Given the description of an element on the screen output the (x, y) to click on. 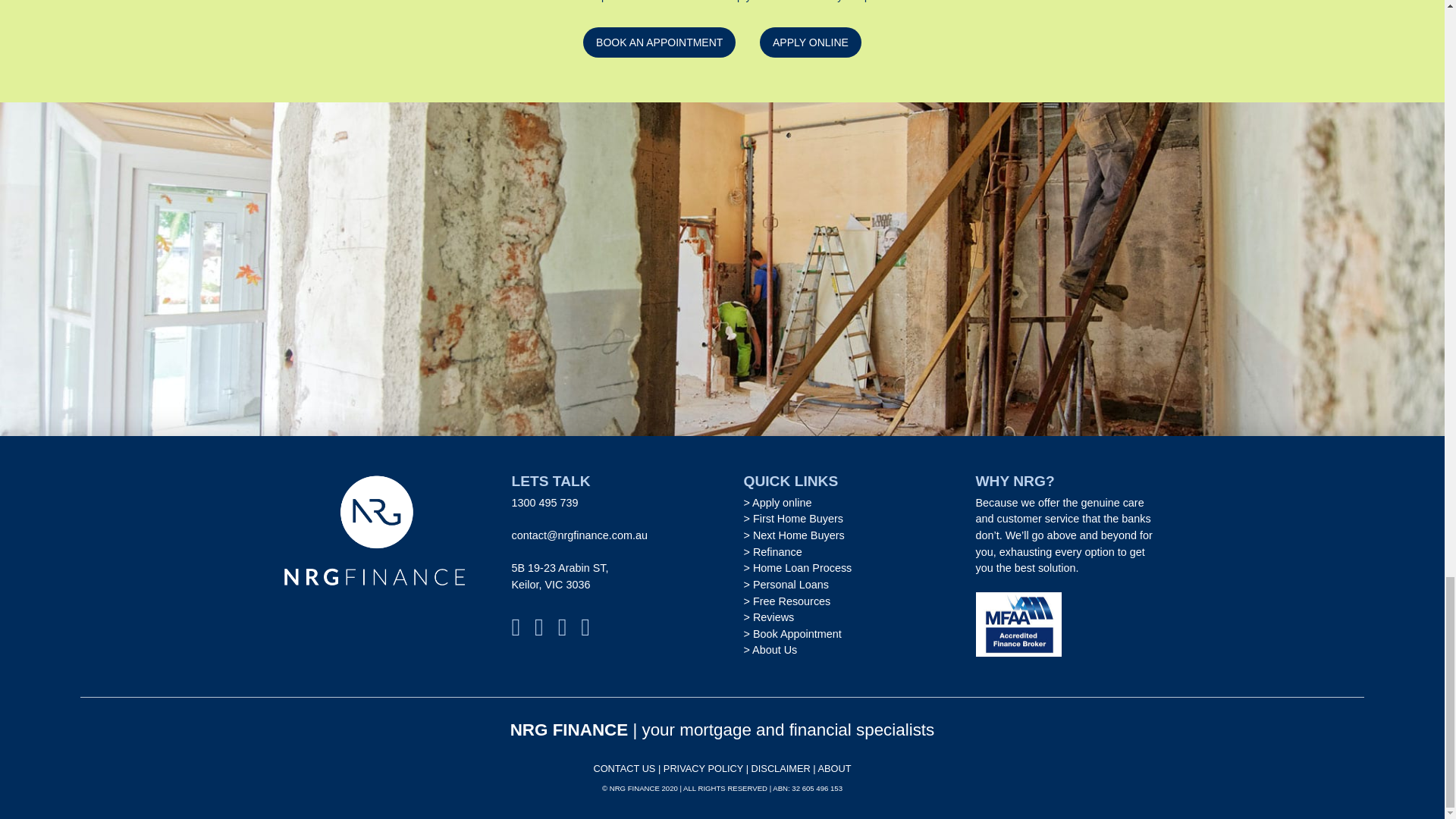
BOOK AN APPOINTMENT (659, 42)
1300 495 739 (544, 502)
APPLY ONLINE (810, 42)
